Given the description of an element on the screen output the (x, y) to click on. 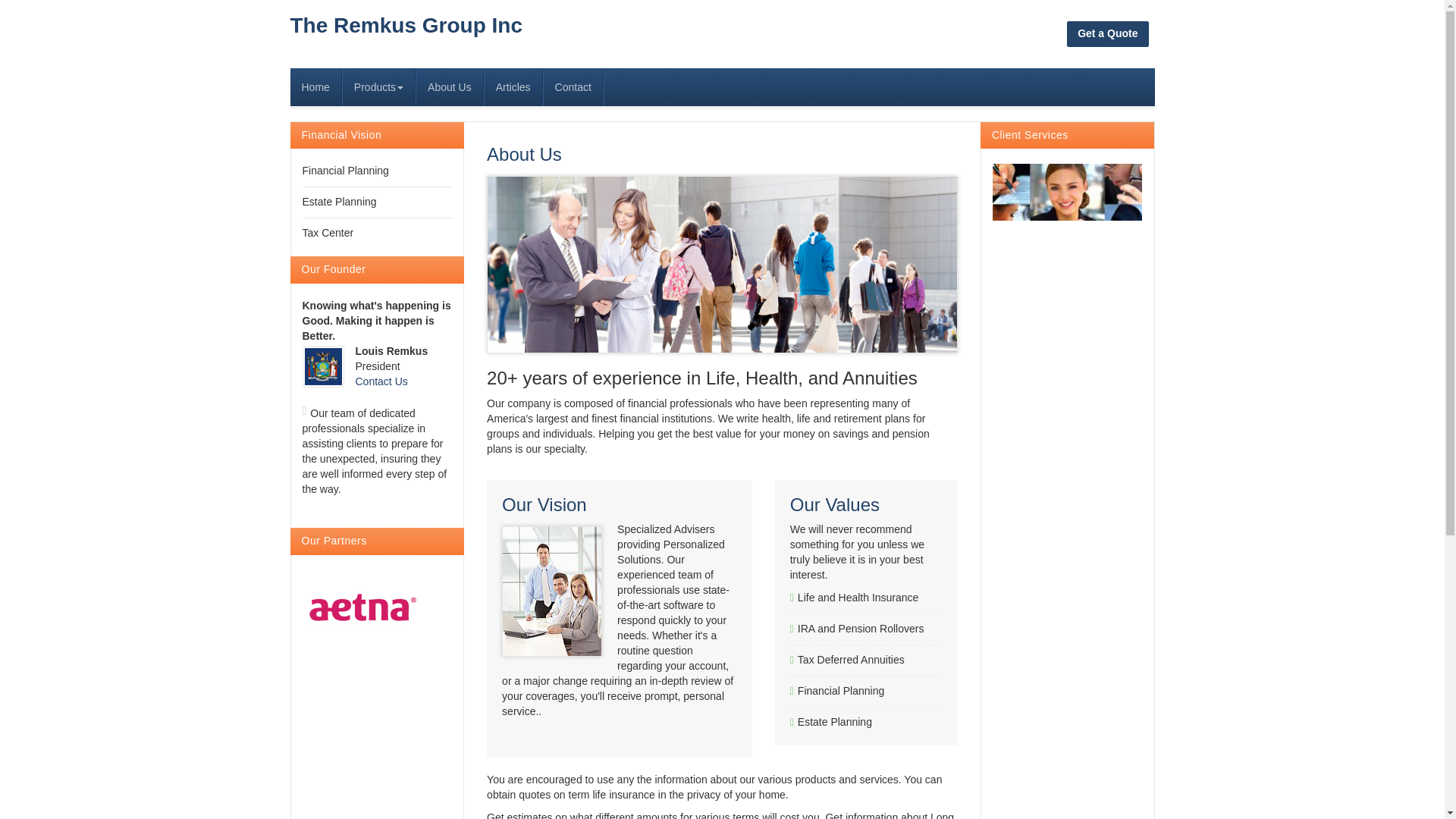
Get a Quote (1107, 33)
Our partners (1067, 191)
The Remkus Group Inc (405, 25)
The Remkus Group Inc (405, 25)
